Given the description of an element on the screen output the (x, y) to click on. 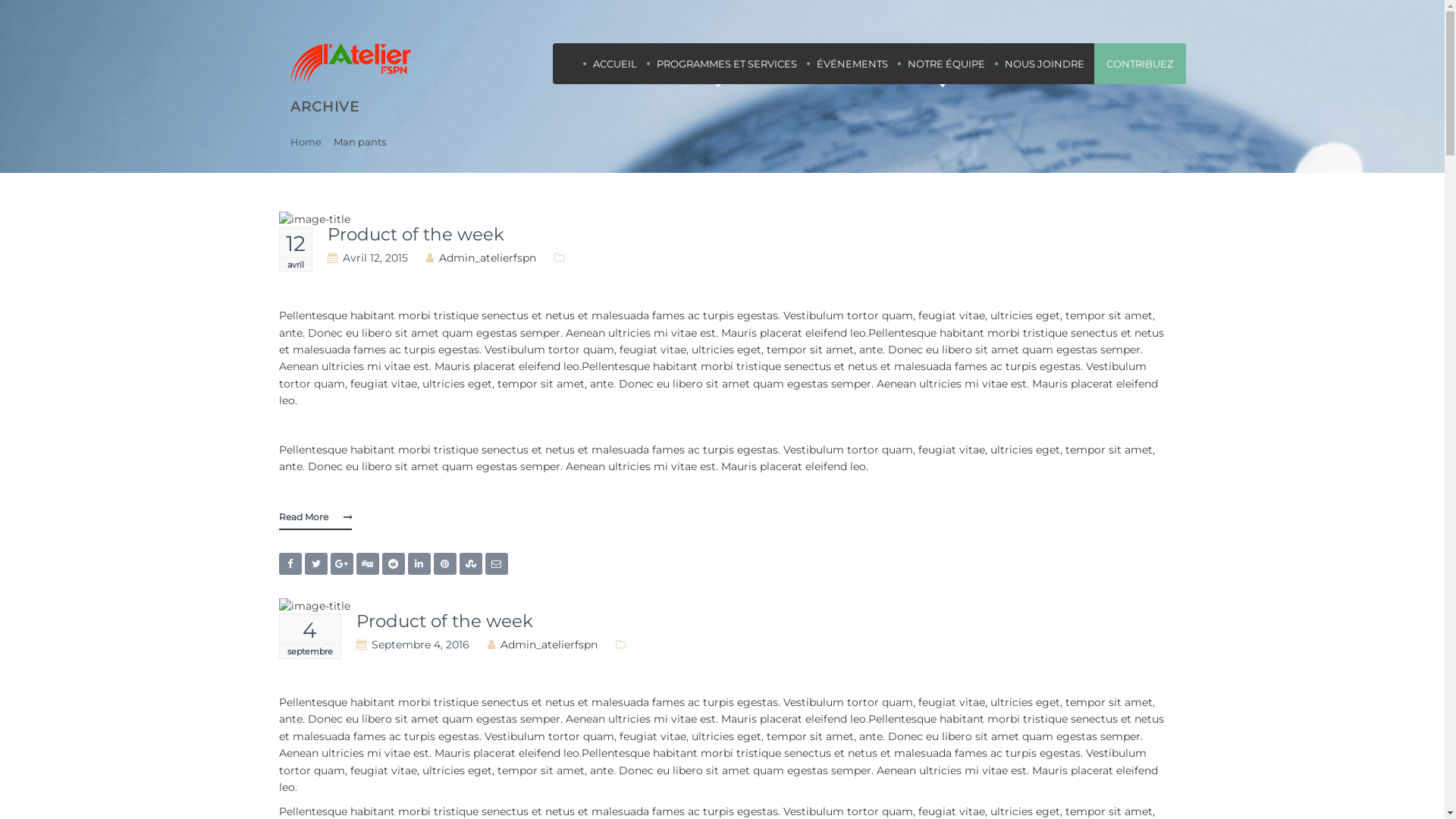
4 Element type: text (309, 630)
Avril 12, 2015 Element type: text (374, 257)
NOUS JOINDRE Element type: text (1044, 63)
avril Element type: text (294, 264)
Read More Element type: text (315, 517)
CONTRIBUEZ Element type: text (1139, 63)
PROGRAMMES ET SERVICES Element type: text (726, 63)
Product of the week Element type: text (415, 233)
Home Element type: text (304, 141)
ACCUEIL Element type: text (614, 63)
Septembre 4, 2016 Element type: text (420, 644)
septembre Element type: text (309, 651)
Product of the week Element type: text (444, 620)
12 Element type: text (294, 243)
